Given the description of an element on the screen output the (x, y) to click on. 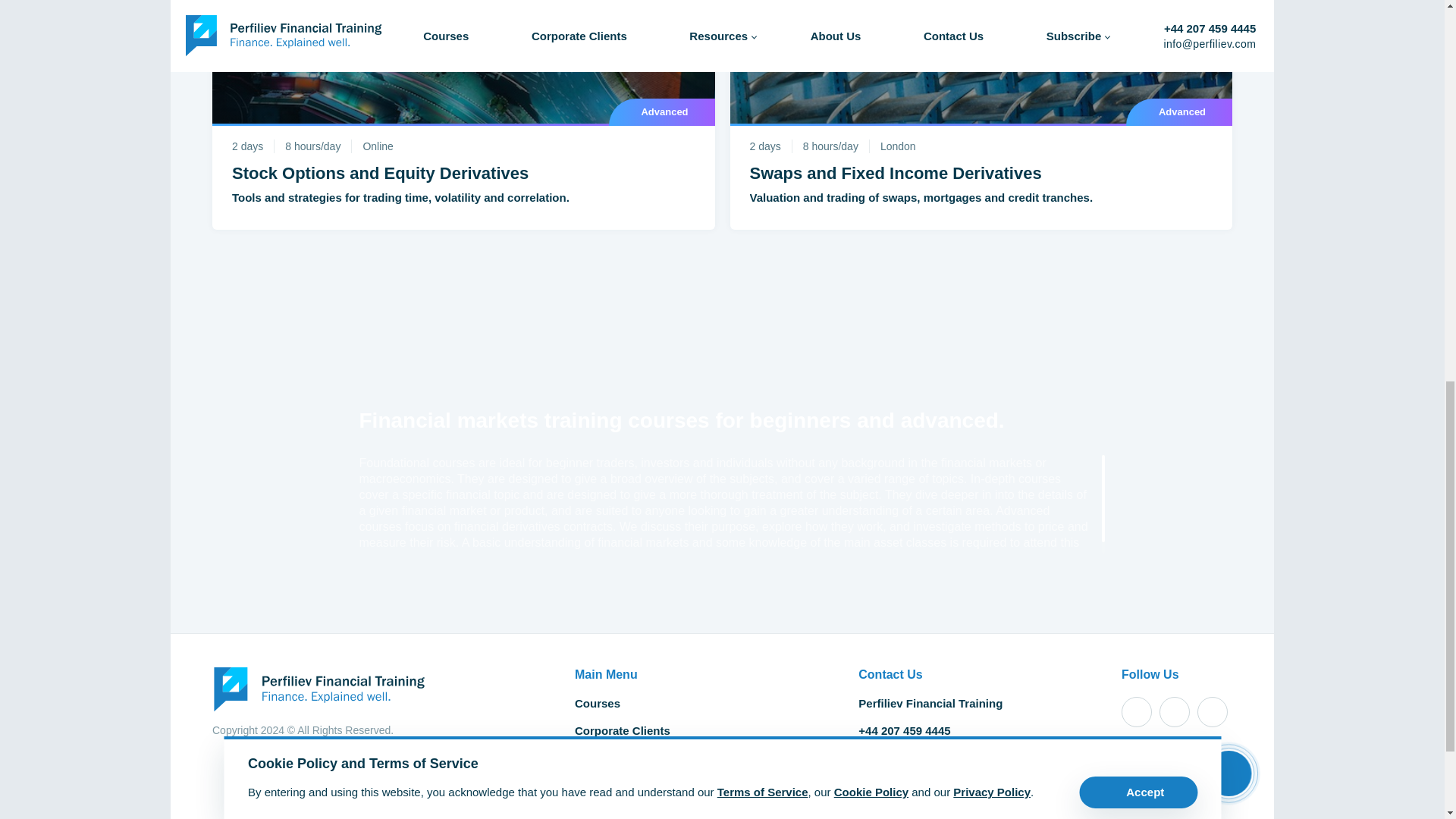
Page 3 (724, 510)
